Given the description of an element on the screen output the (x, y) to click on. 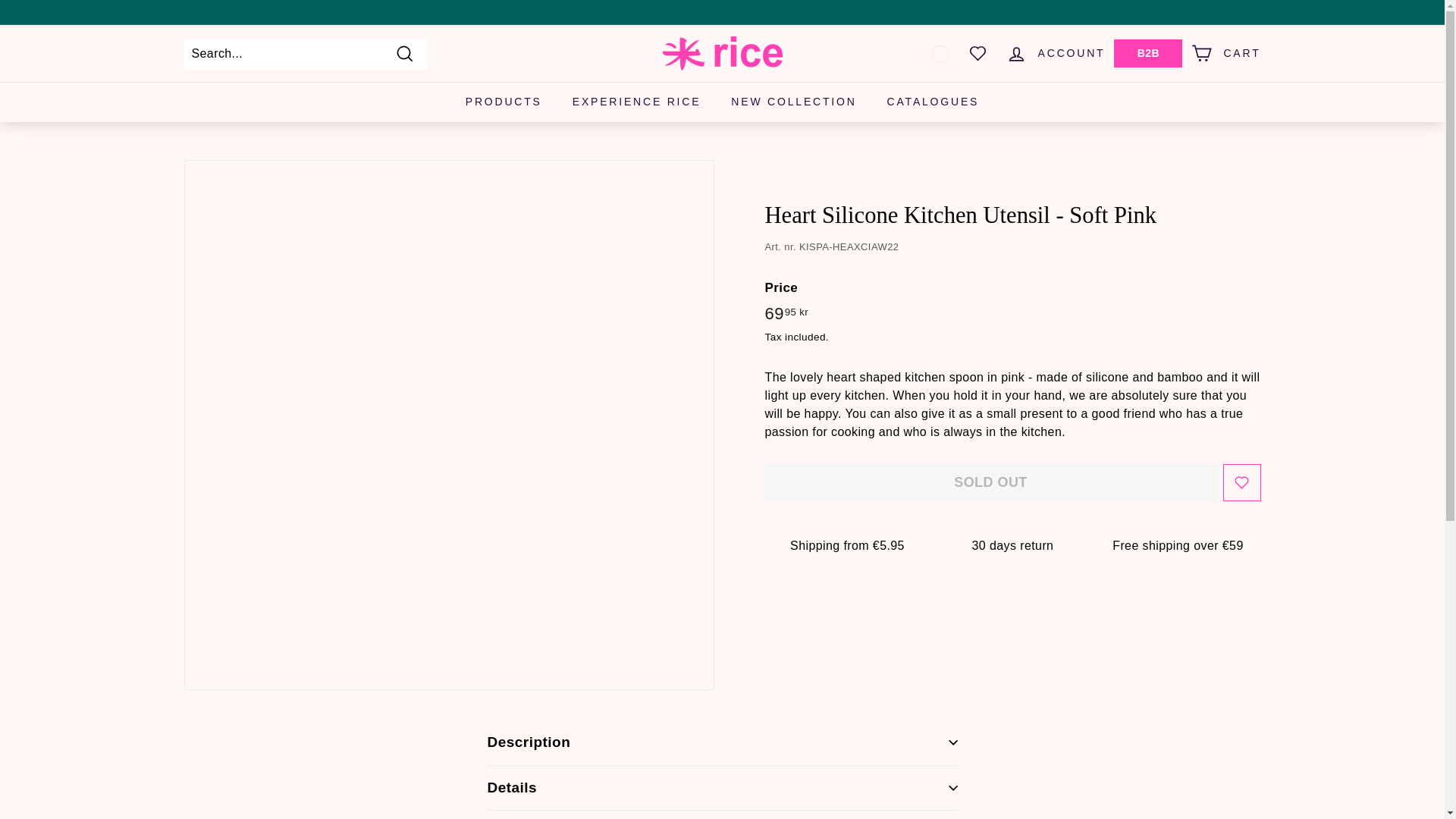
B2B (1147, 53)
PRODUCTS (503, 101)
ACCOUNT (1056, 53)
